Given the description of an element on the screen output the (x, y) to click on. 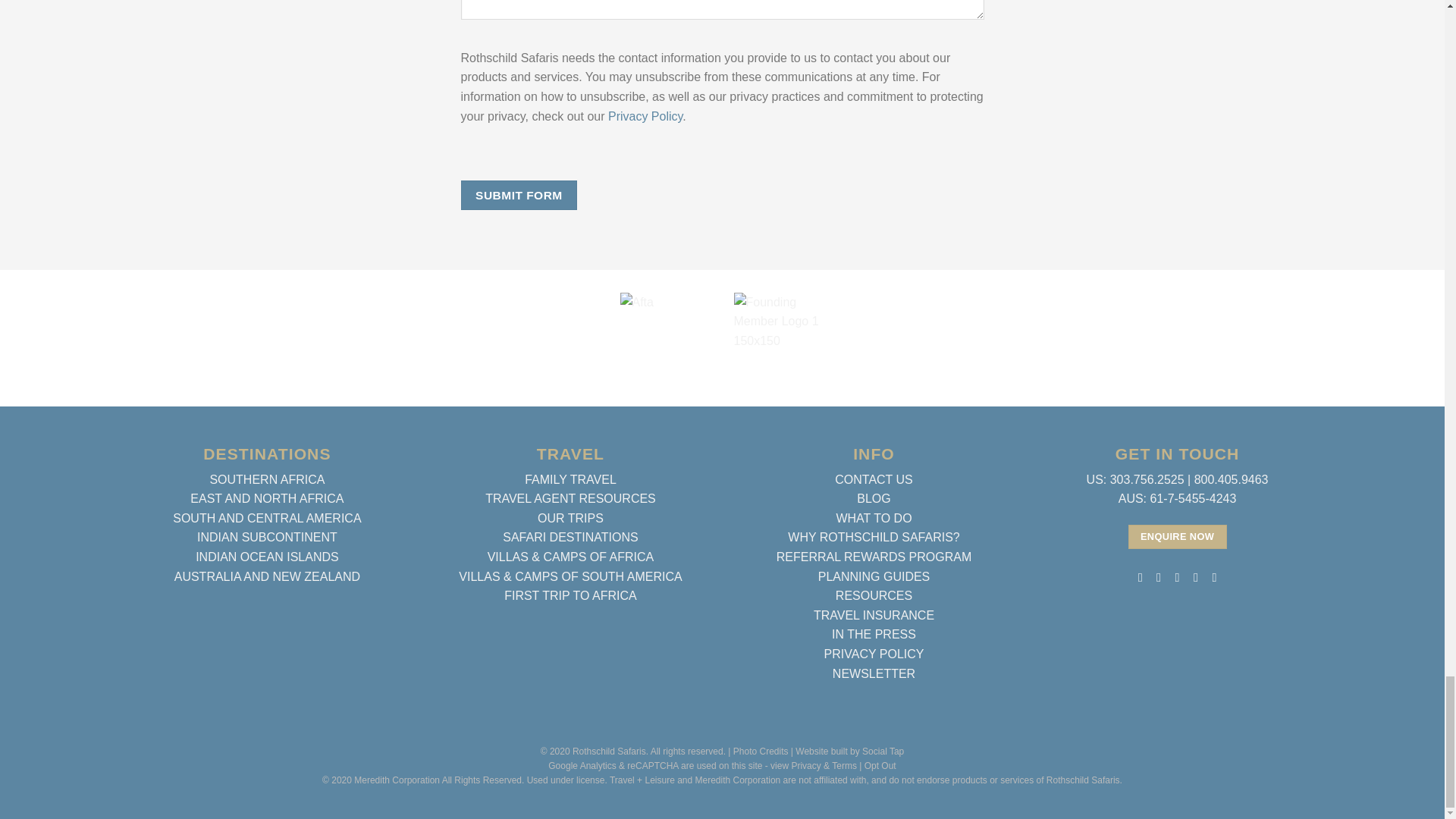
Follow on LinkedIn (1195, 576)
Follow on Facebook (1139, 576)
Follow on Instagram (1158, 576)
Submit Form (519, 194)
